Given the description of an element on the screen output the (x, y) to click on. 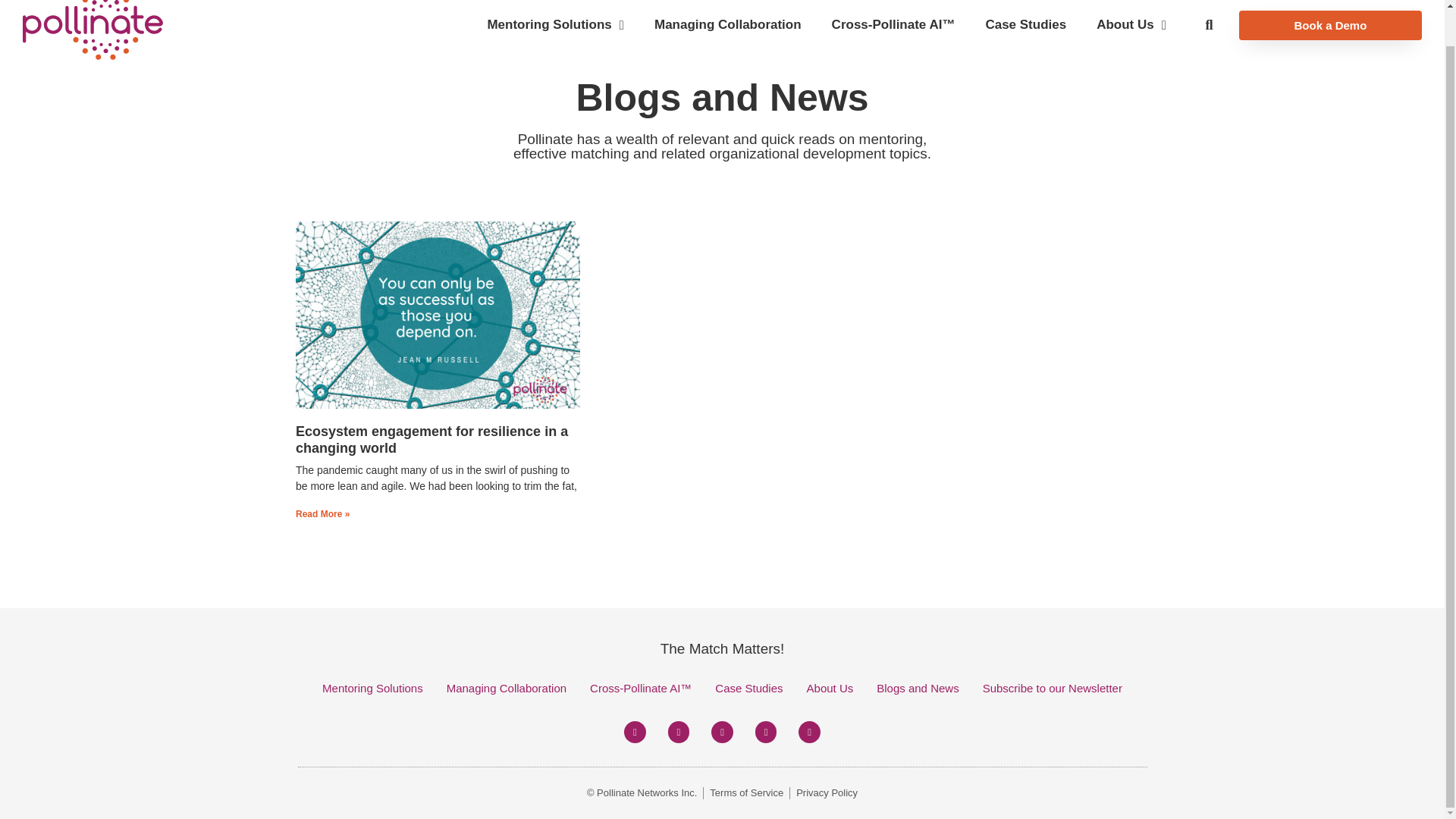
Cross-Pollinate Al (893, 24)
Mentoring Solutions (555, 24)
